Given the description of an element on the screen output the (x, y) to click on. 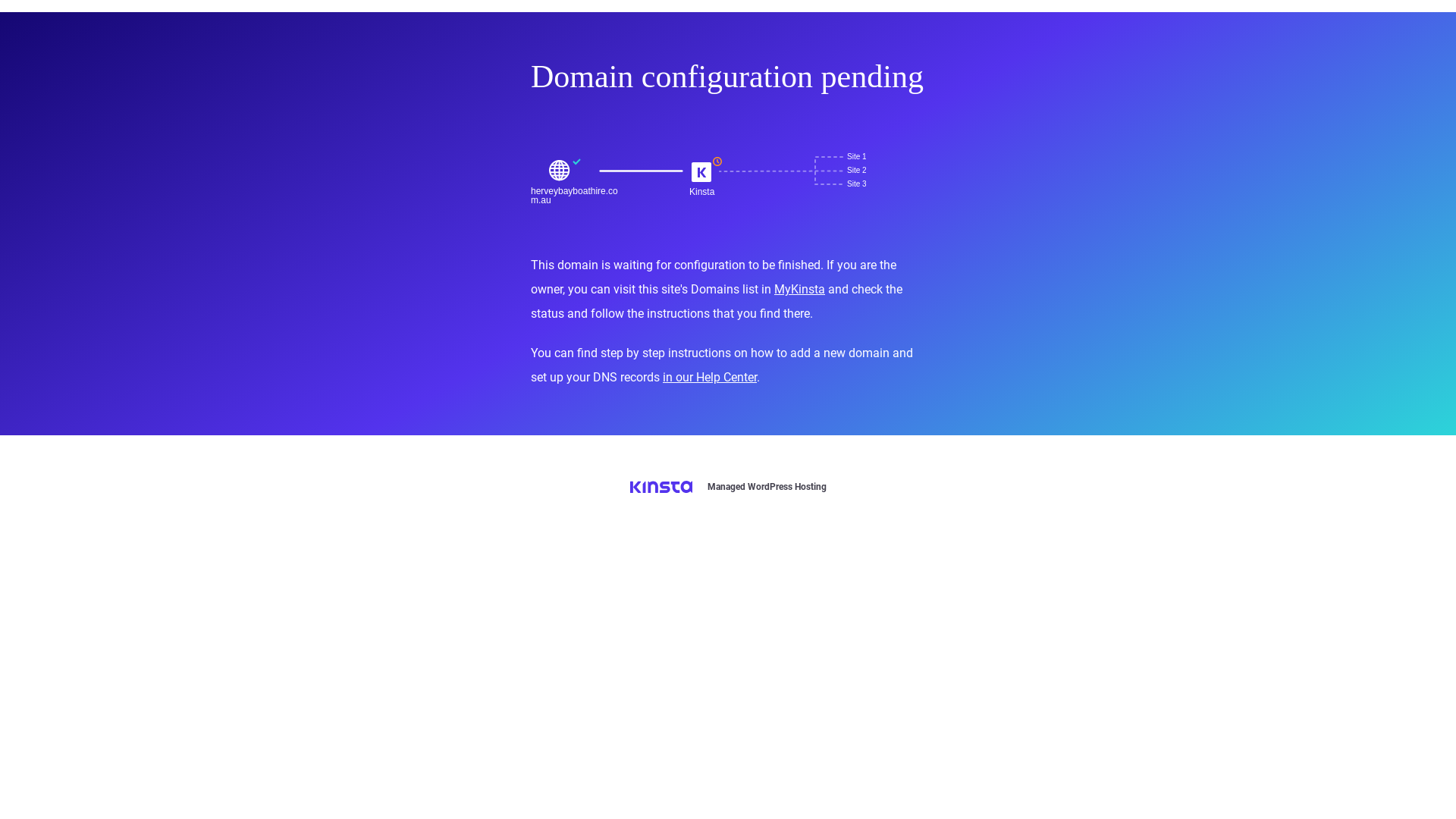
MyKinsta Element type: text (799, 289)
Kinsta logo Element type: hover (660, 486)
in our Help Center Element type: text (709, 377)
